Given the description of an element on the screen output the (x, y) to click on. 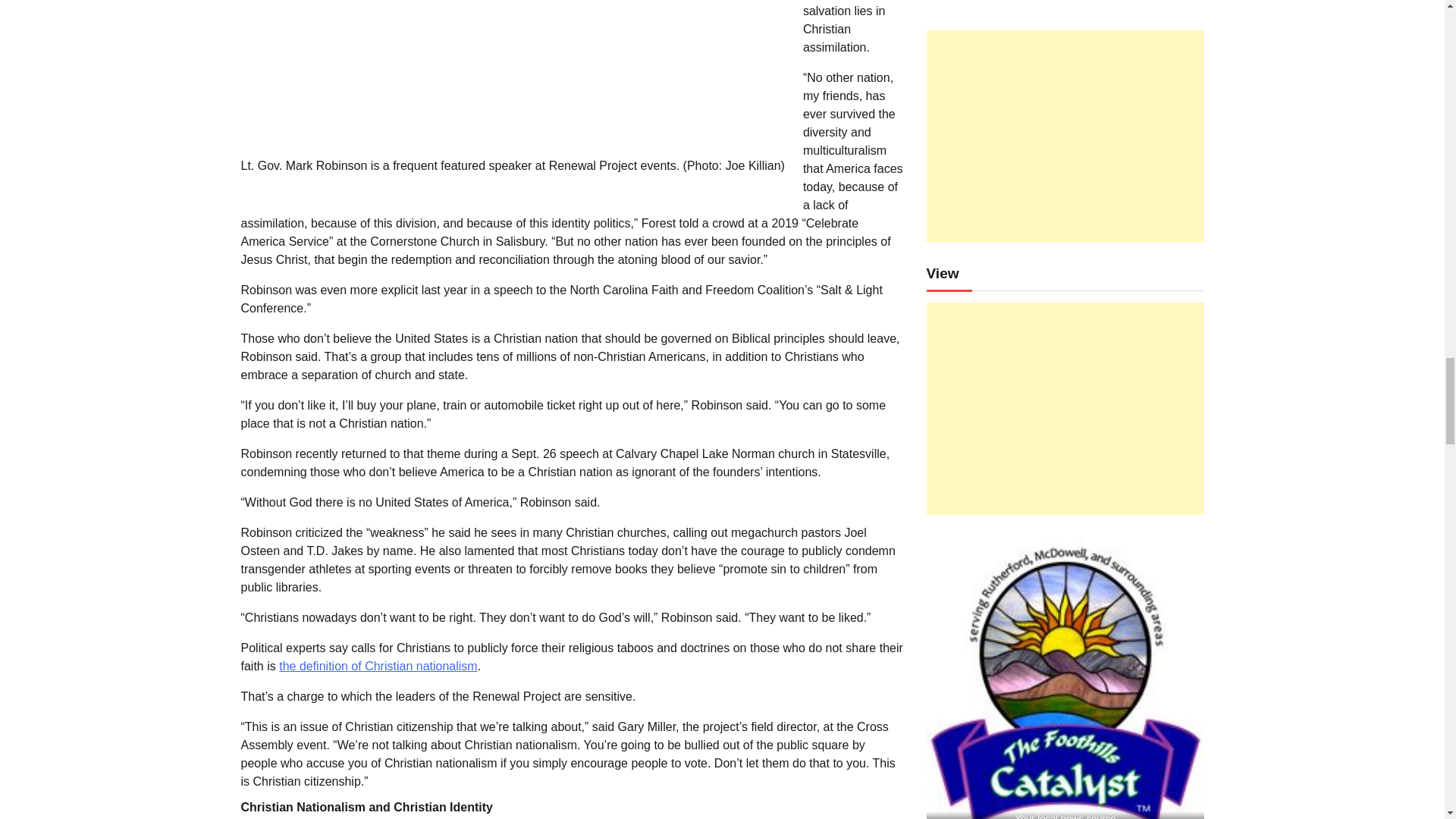
the definition of Christian nationalism (378, 666)
